Given the description of an element on the screen output the (x, y) to click on. 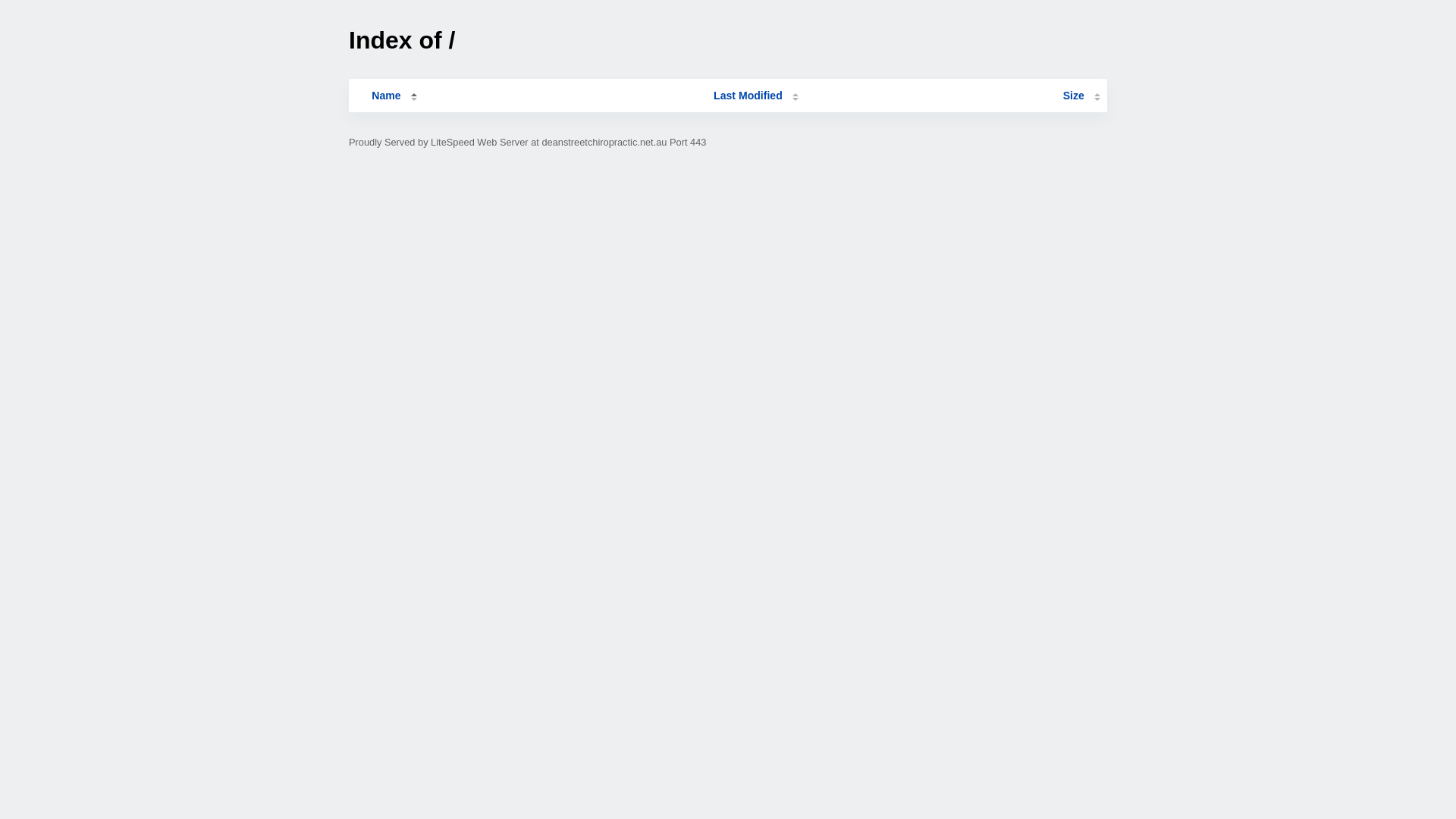
Size Element type: text (1081, 95)
Name Element type: text (385, 95)
Last Modified Element type: text (755, 95)
